Given the description of an element on the screen output the (x, y) to click on. 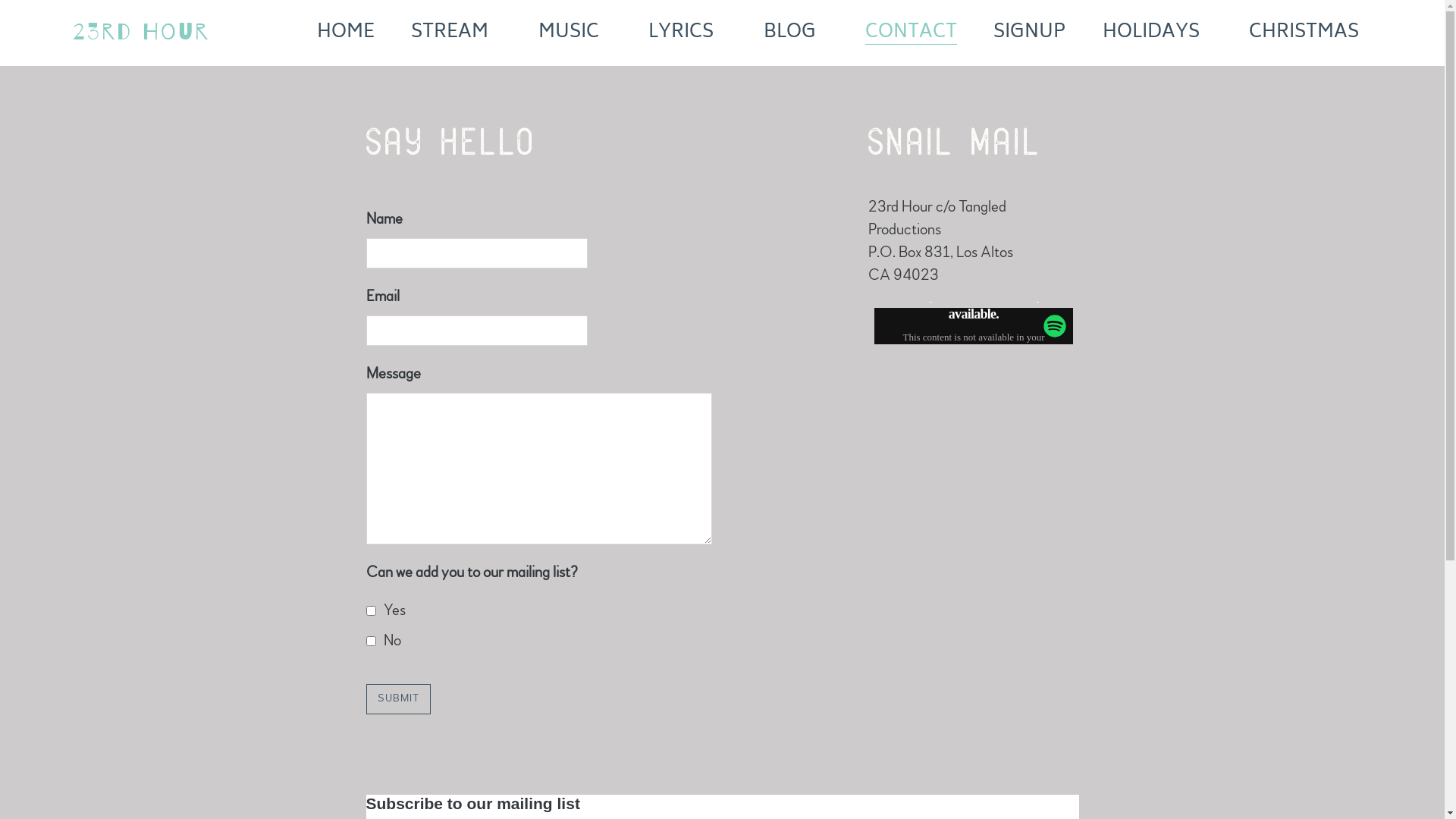
HOME Element type: text (345, 32)
BLOG Element type: text (795, 32)
SIGNUP Element type: text (1029, 32)
CHRISTMAS Element type: text (1309, 32)
HOLIDAYS Element type: text (1157, 32)
CONTACT Element type: text (911, 32)
Submit Element type: text (397, 699)
23rd Hour Element type: text (141, 32)
MUSIC Element type: text (574, 32)
LYRICS Element type: text (687, 32)
STREAM Element type: text (456, 32)
